Given the description of an element on the screen output the (x, y) to click on. 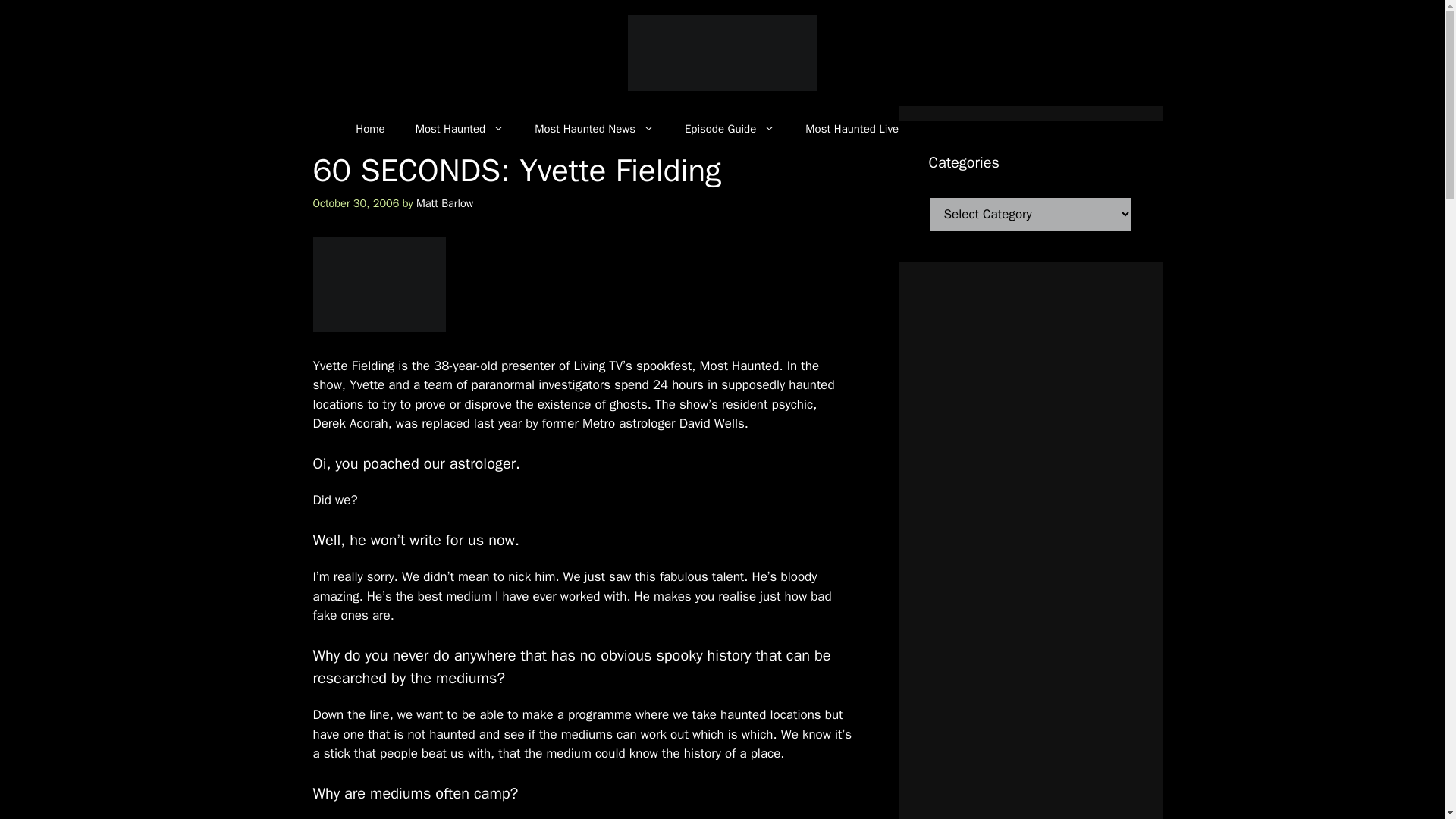
Skip to content (62, 22)
View all posts by Matt Barlow (444, 202)
Episode Guide (729, 128)
Home (369, 128)
Most Haunted (459, 128)
Most Haunted Live (861, 128)
Most Haunted News (594, 128)
Skip to content (62, 22)
